Given the description of an element on the screen output the (x, y) to click on. 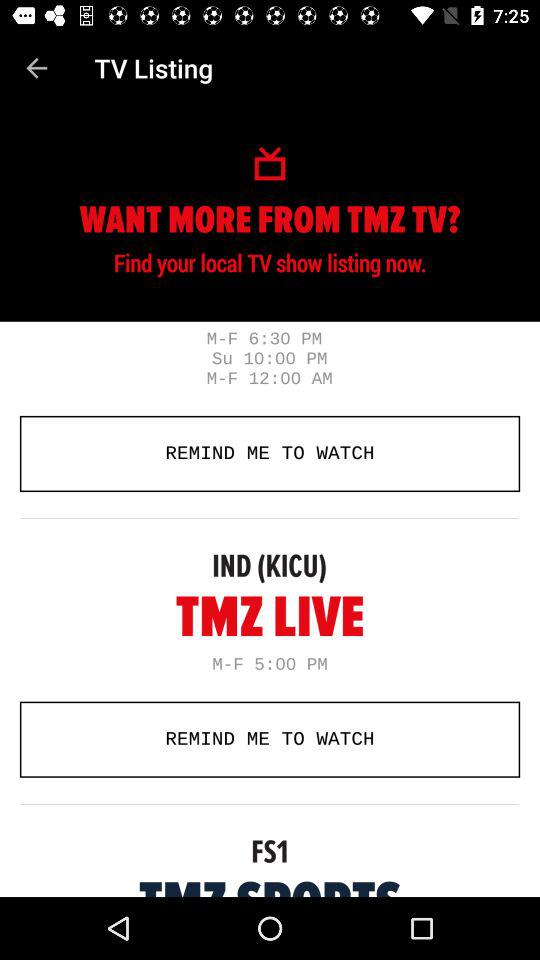
click on remind me to watch which is below the mf 500 pm (269, 739)
